Given the description of an element on the screen output the (x, y) to click on. 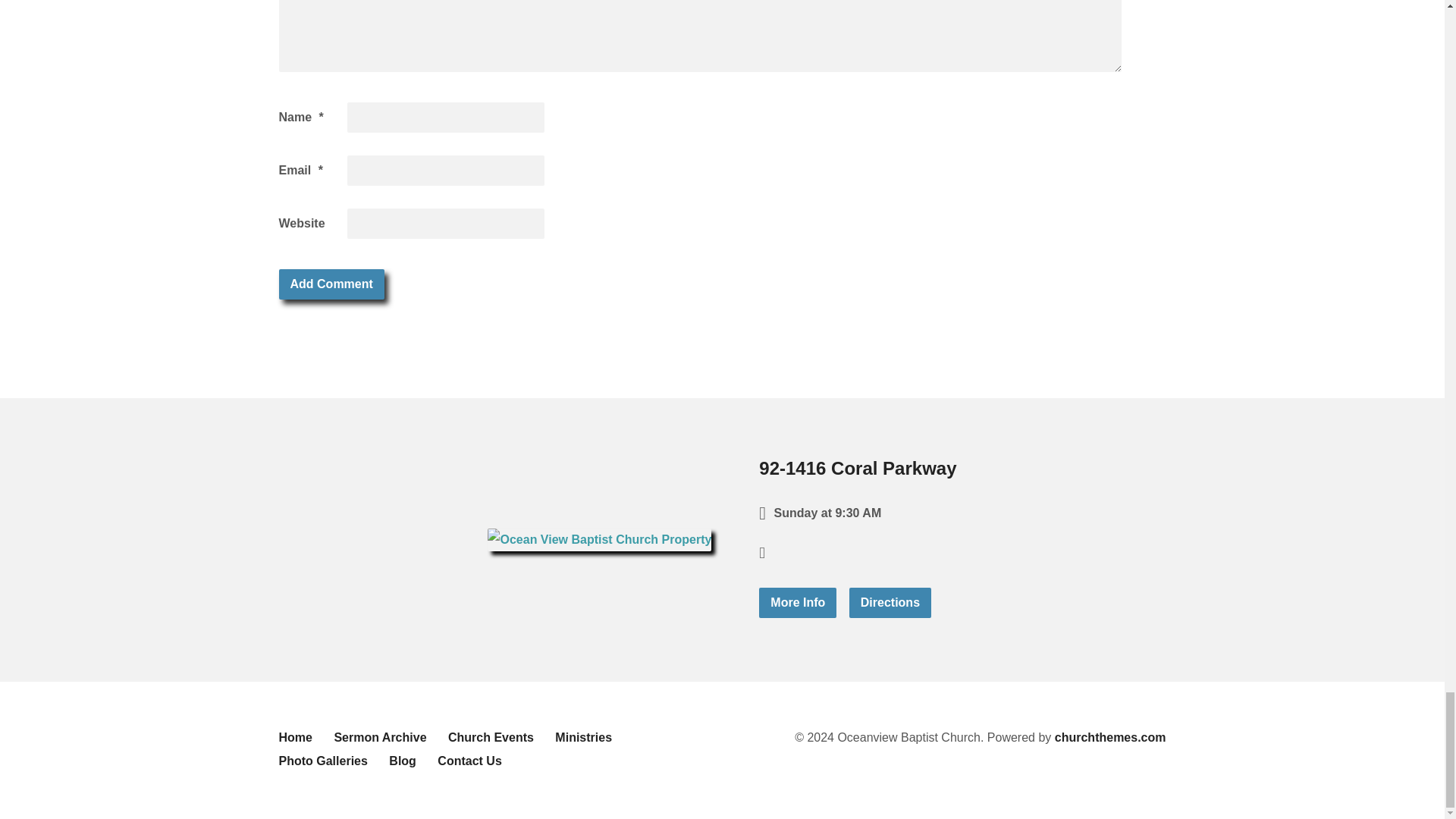
Add Comment (331, 284)
Ocean View Baptist Church Property (599, 538)
